Given the description of an element on the screen output the (x, y) to click on. 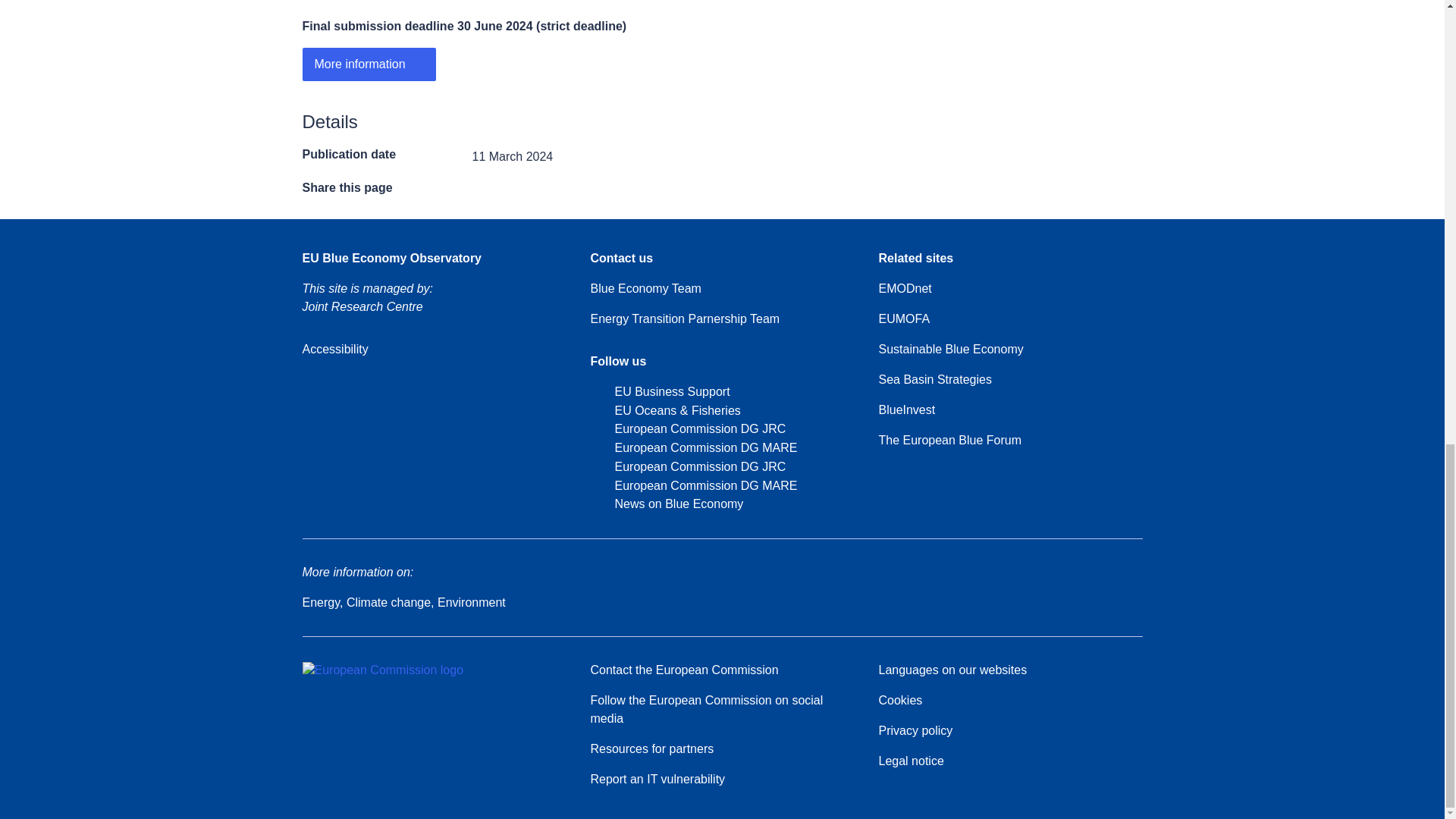
Energy Transition Parnership Team (683, 319)
News on Blue Economy (665, 504)
Languages on our websites (951, 669)
EMODnet (904, 289)
Accessibility (334, 349)
EU Business Support (659, 392)
Sustainable Blue Economy (950, 349)
European Commission DG MARE (692, 447)
The European Blue Forum (949, 440)
European Commission DG JRC (687, 466)
Sea Basin Strategies (934, 380)
Privacy policy (914, 730)
Energy, Climate change, Environment (403, 602)
Report an IT vulnerability (657, 779)
European Commission DG MARE (692, 486)
